Given the description of an element on the screen output the (x, y) to click on. 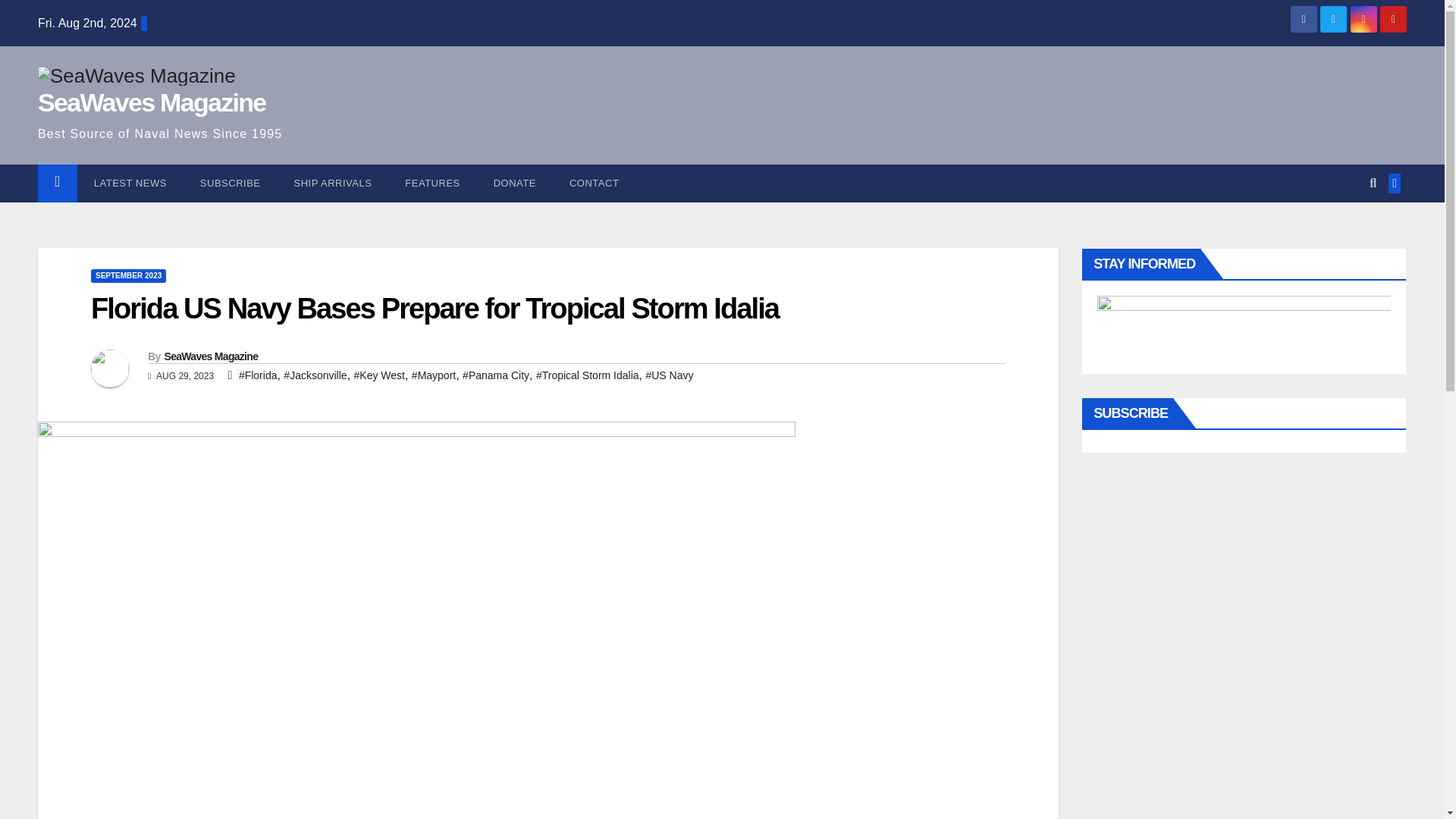
SHIP ARRIVALS (333, 183)
Latest News (130, 183)
SUBSCRIBE (230, 183)
LATEST NEWS (130, 183)
Ship Arrivals (333, 183)
Subscribe (230, 183)
FEATURES (432, 183)
SeaWaves Magazine (151, 102)
Features (432, 183)
